Given the description of an element on the screen output the (x, y) to click on. 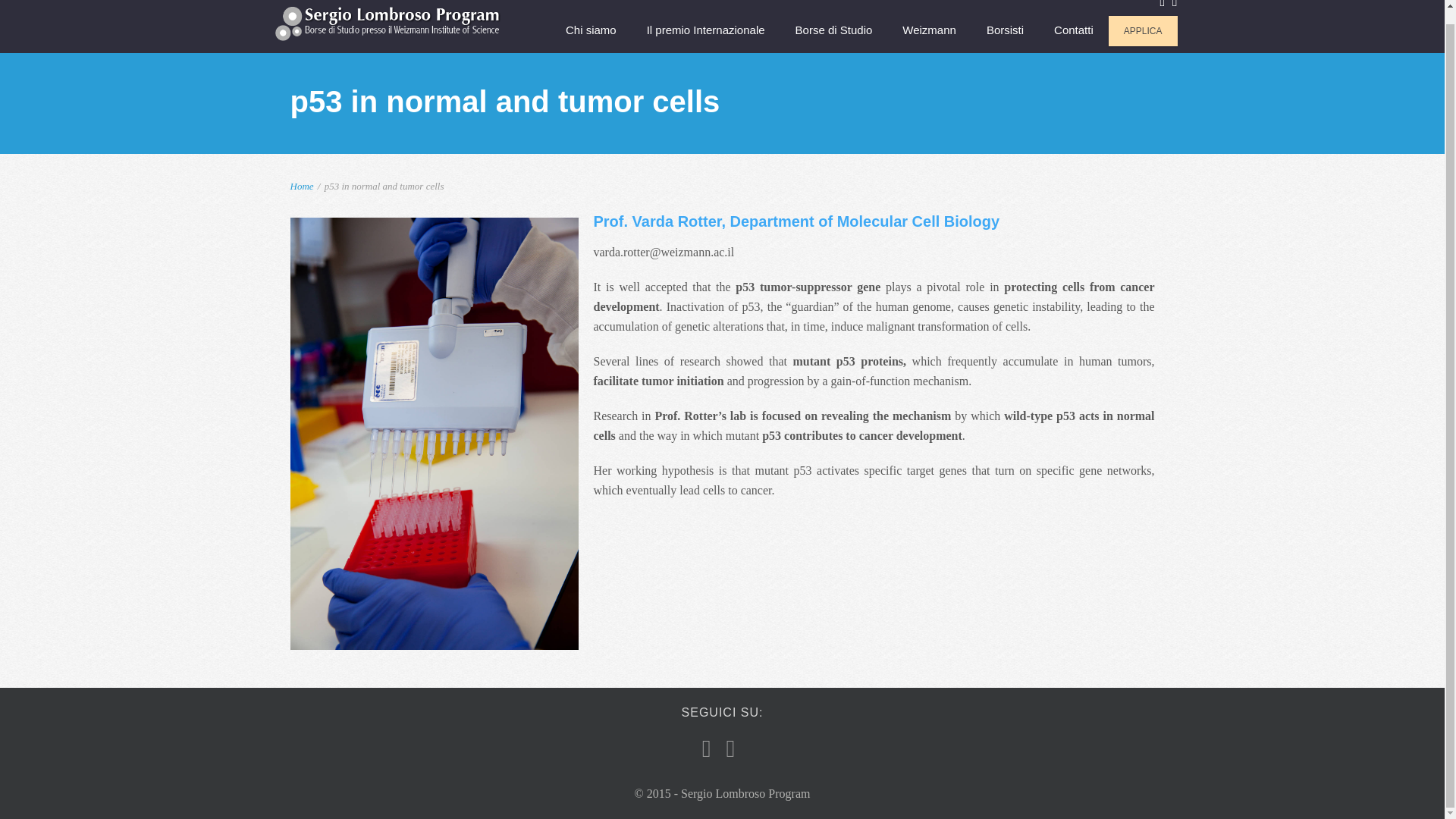
Seguici su LinkedIn (730, 749)
Seguici su Facebook (706, 749)
Chi siamo (590, 32)
Seguici su Facebook (1161, 6)
Sergio Lombroso Program (388, 22)
Seguici su LinkedIn (1174, 6)
